Given the description of an element on the screen output the (x, y) to click on. 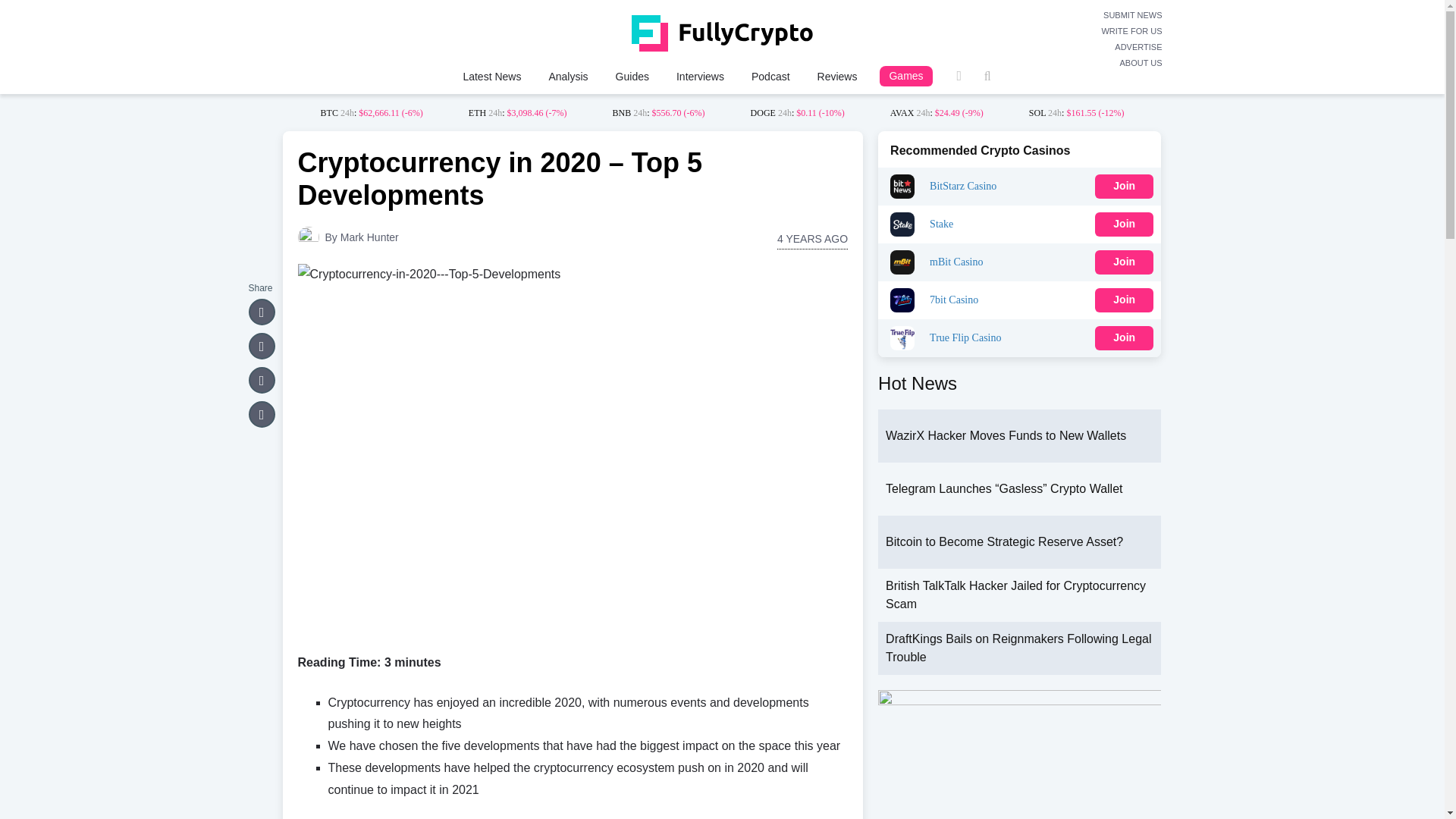
ADVERTISE (1130, 47)
ABOUT US (1130, 63)
Interviews (700, 76)
Podcast (770, 76)
Latest News (491, 76)
Games (905, 76)
Reviews (836, 76)
Analysis (567, 76)
SUBMIT NEWS (1130, 15)
Guides (632, 76)
Posts by Mark Hunter (369, 236)
WRITE FOR US (1130, 31)
